Given the description of an element on the screen output the (x, y) to click on. 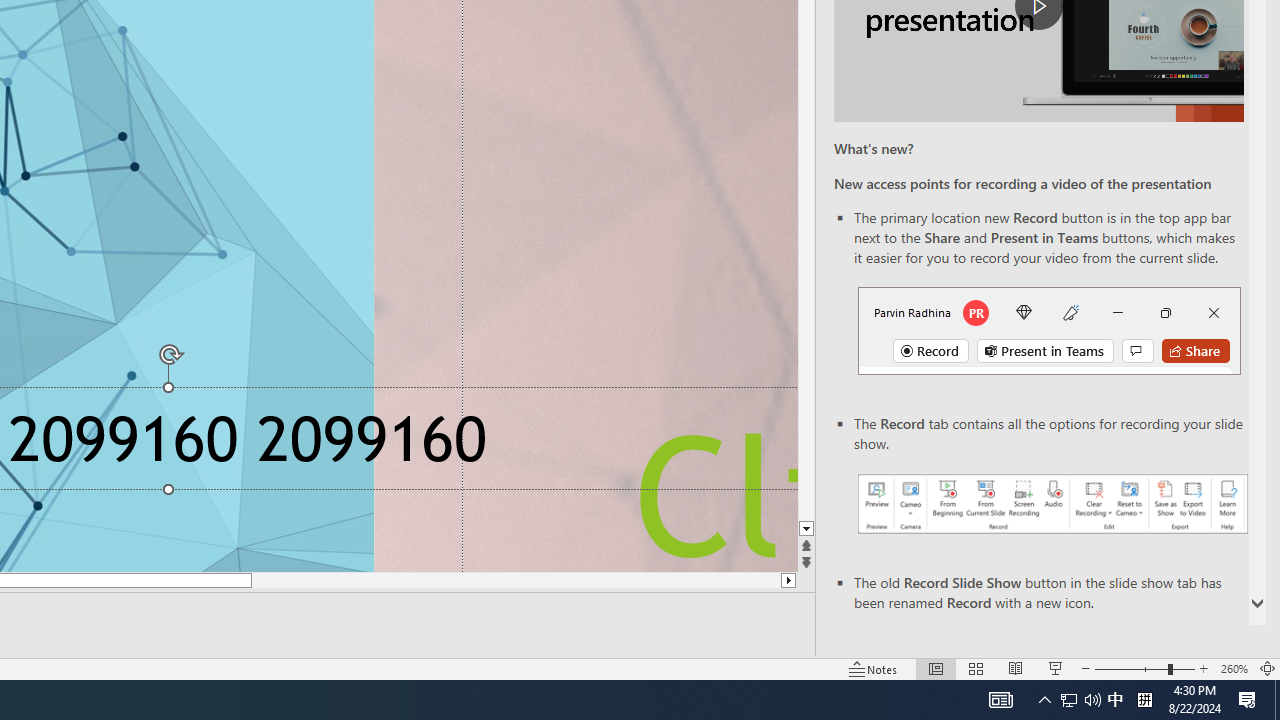
Record button in top bar (1049, 331)
Record your presentations screenshot one (1052, 503)
Zoom 260% (1234, 668)
